Given the description of an element on the screen output the (x, y) to click on. 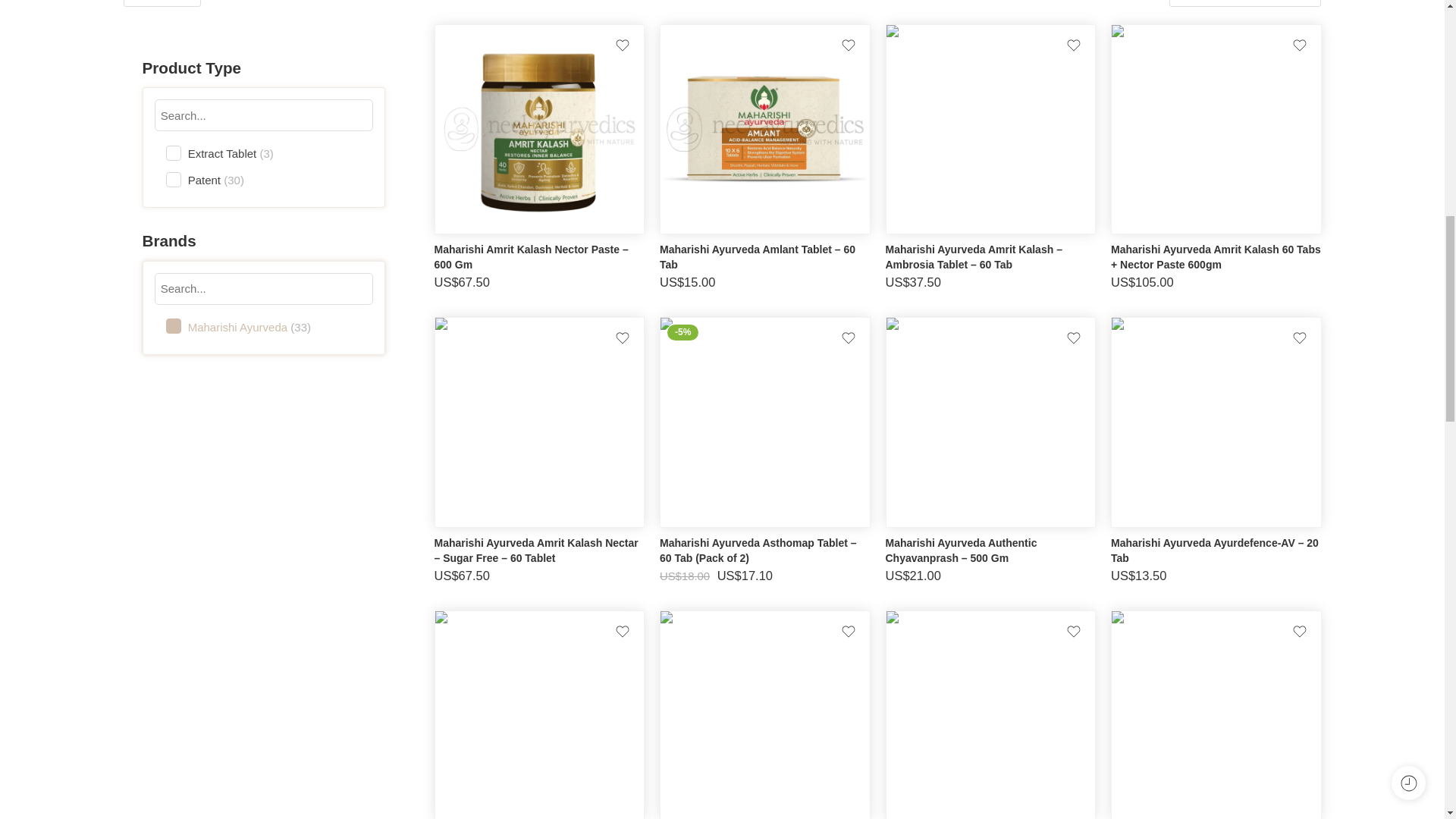
Default sorting (1257, 1)
Filters (161, 3)
